Given the description of an element on the screen output the (x, y) to click on. 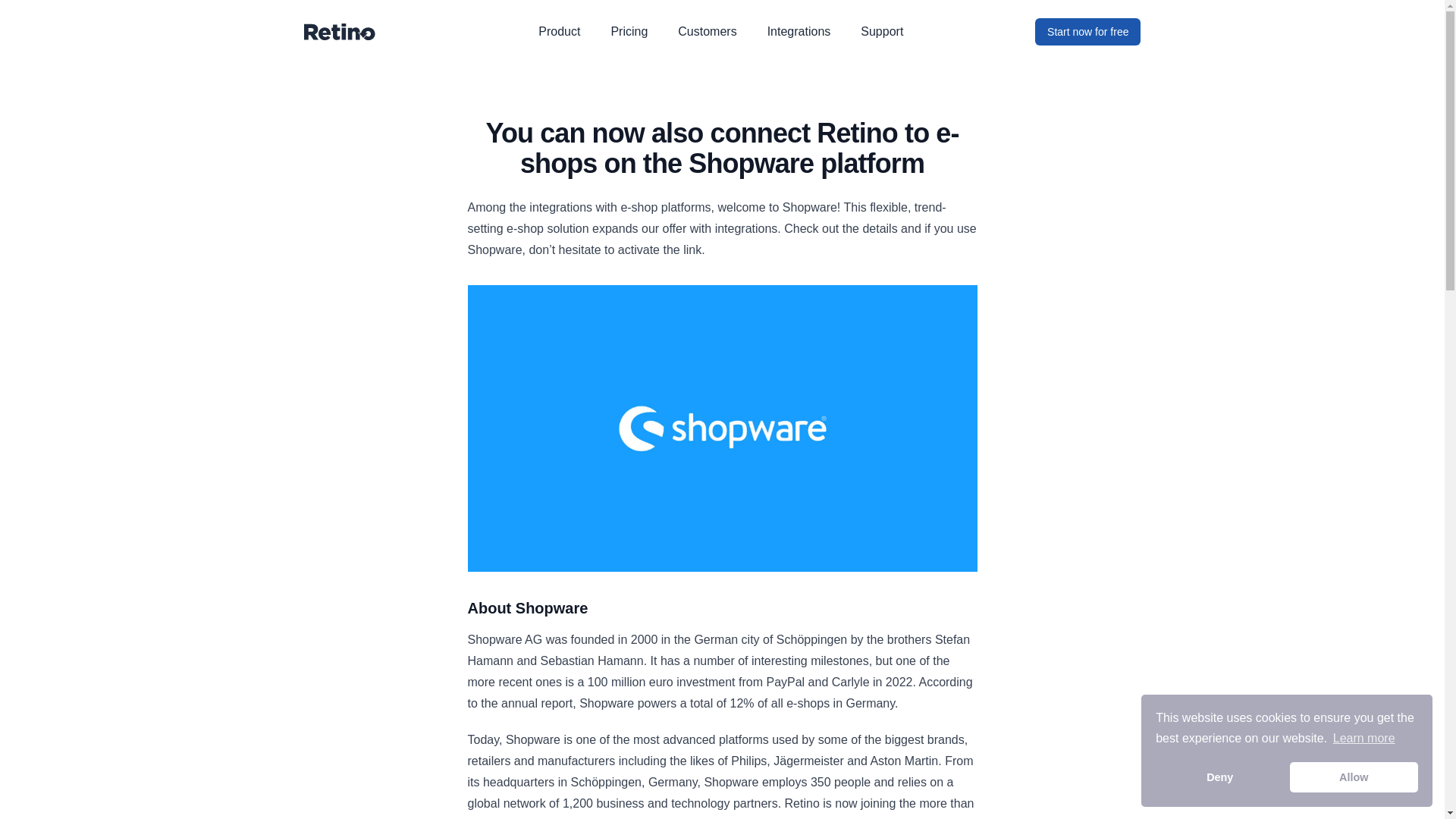
Deny (1220, 777)
Support (881, 31)
Allow (1354, 777)
Product (558, 31)
Customers (707, 31)
Retino (338, 31)
Start now for free (1087, 31)
Learn more (1363, 738)
Pricing (628, 31)
Integrations (799, 31)
